Given the description of an element on the screen output the (x, y) to click on. 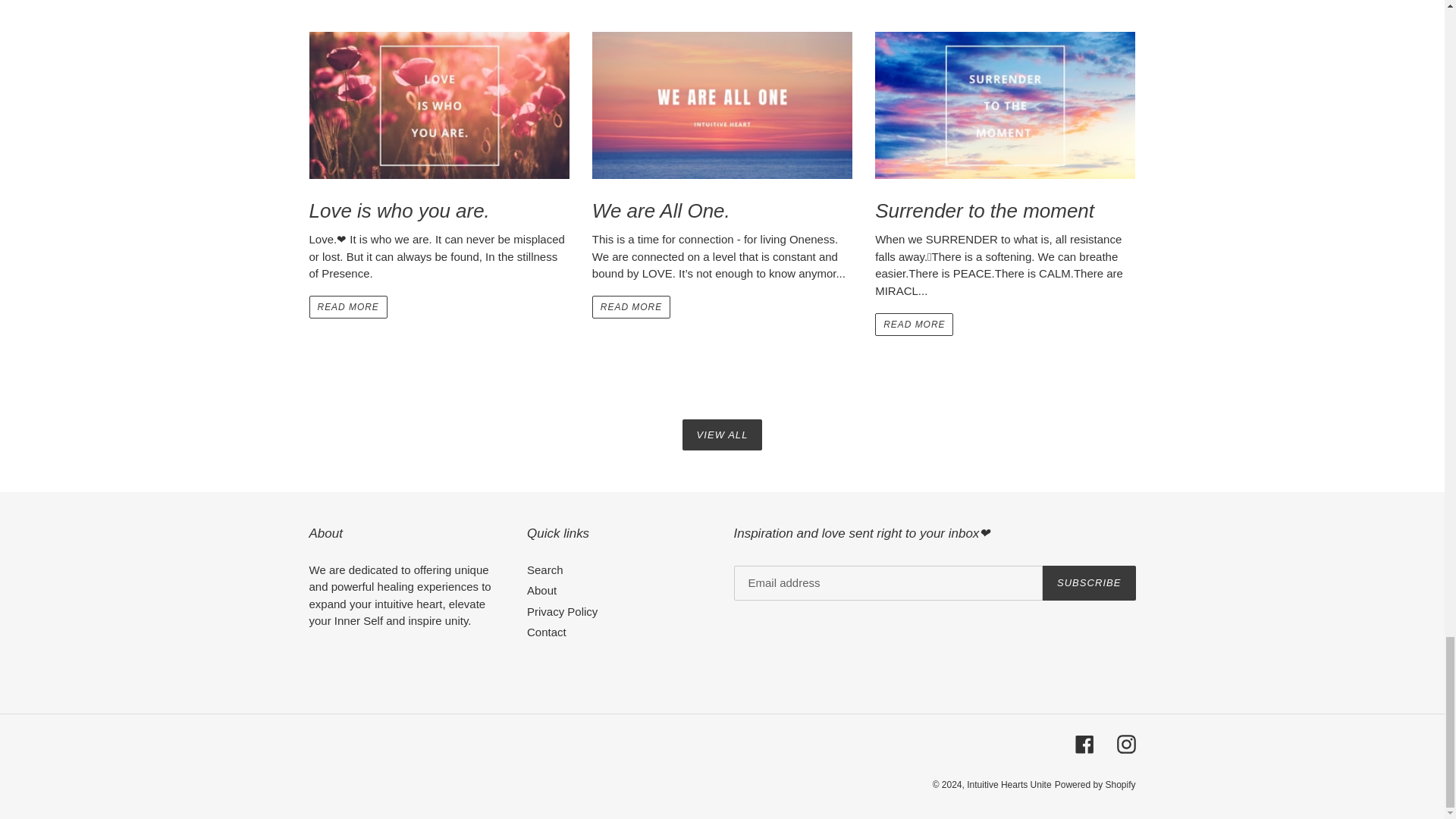
Facebook (1084, 743)
We are All One. (721, 126)
READ MORE (630, 306)
Instagram (1125, 743)
Search (545, 569)
READ MORE (347, 306)
Intuitive Hearts Unite (1008, 784)
About (541, 590)
VIEW ALL (722, 435)
Love is who you are. (438, 126)
Powered by Shopify (1094, 784)
Contact (546, 631)
Surrender to the moment (1005, 126)
SUBSCRIBE (1088, 582)
READ MORE (914, 323)
